Given the description of an element on the screen output the (x, y) to click on. 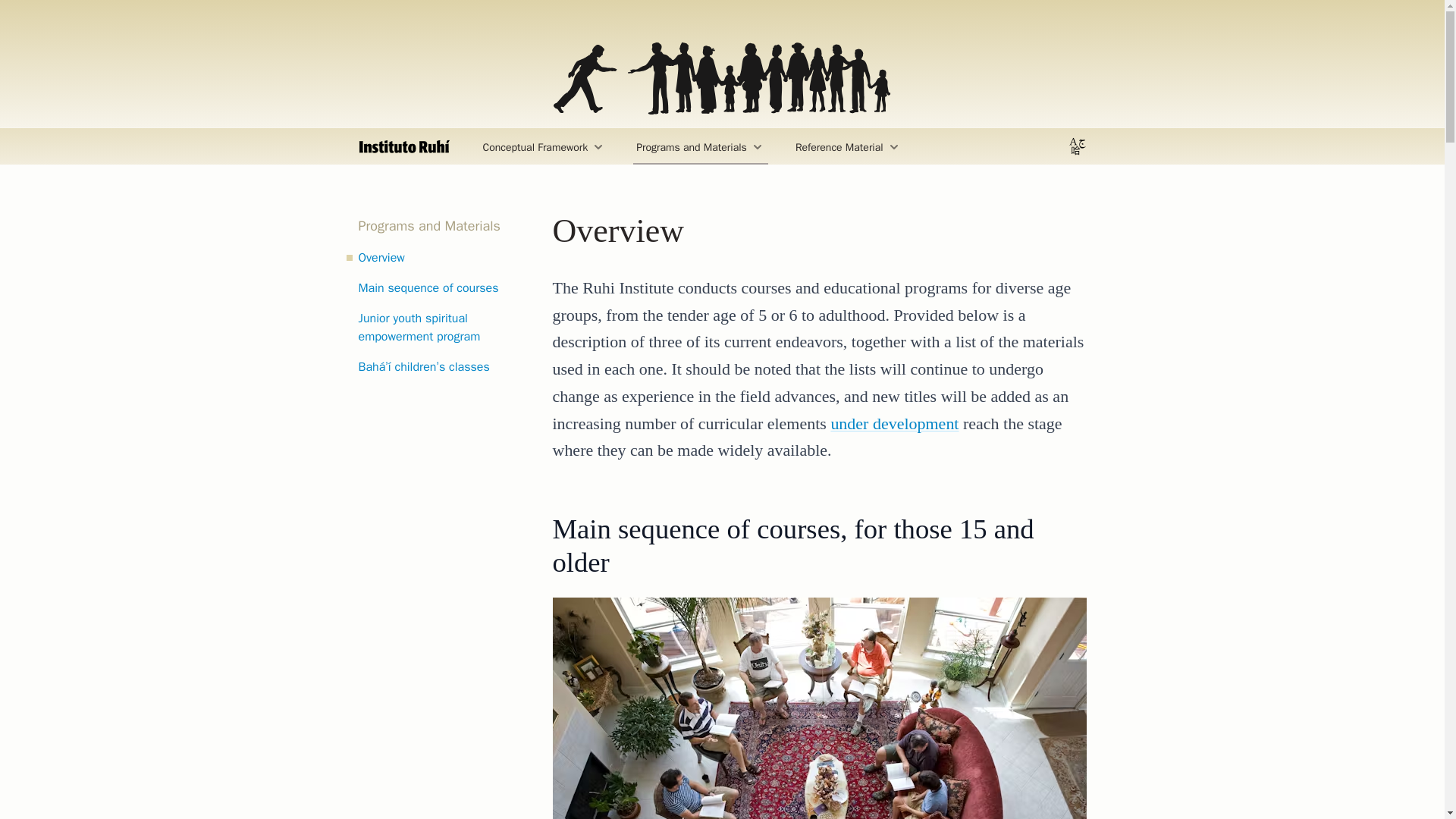
Conceptual Framework (543, 145)
Reference Material (848, 145)
Programs and Materials (700, 145)
